Given the description of an element on the screen output the (x, y) to click on. 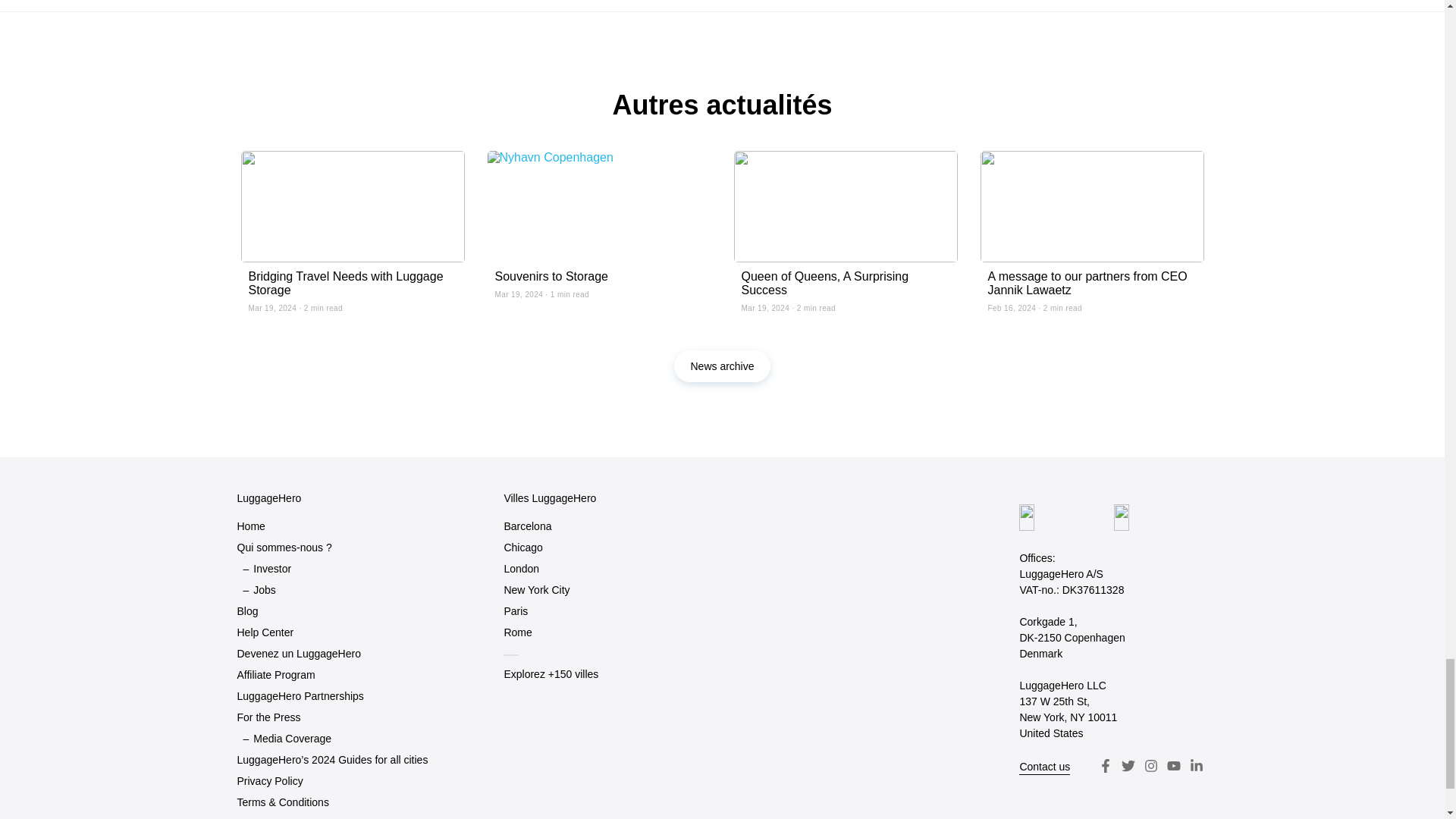
Devenez un LuggageHero (297, 653)
LuggageHero (268, 497)
LuggageHero Partnerships (298, 696)
For the Press (267, 717)
Affiliate Program (274, 674)
Home (249, 526)
Qui sommes-nous ? (283, 547)
Jobs (264, 589)
Blog (246, 610)
Help Center (264, 632)
